Given the description of an element on the screen output the (x, y) to click on. 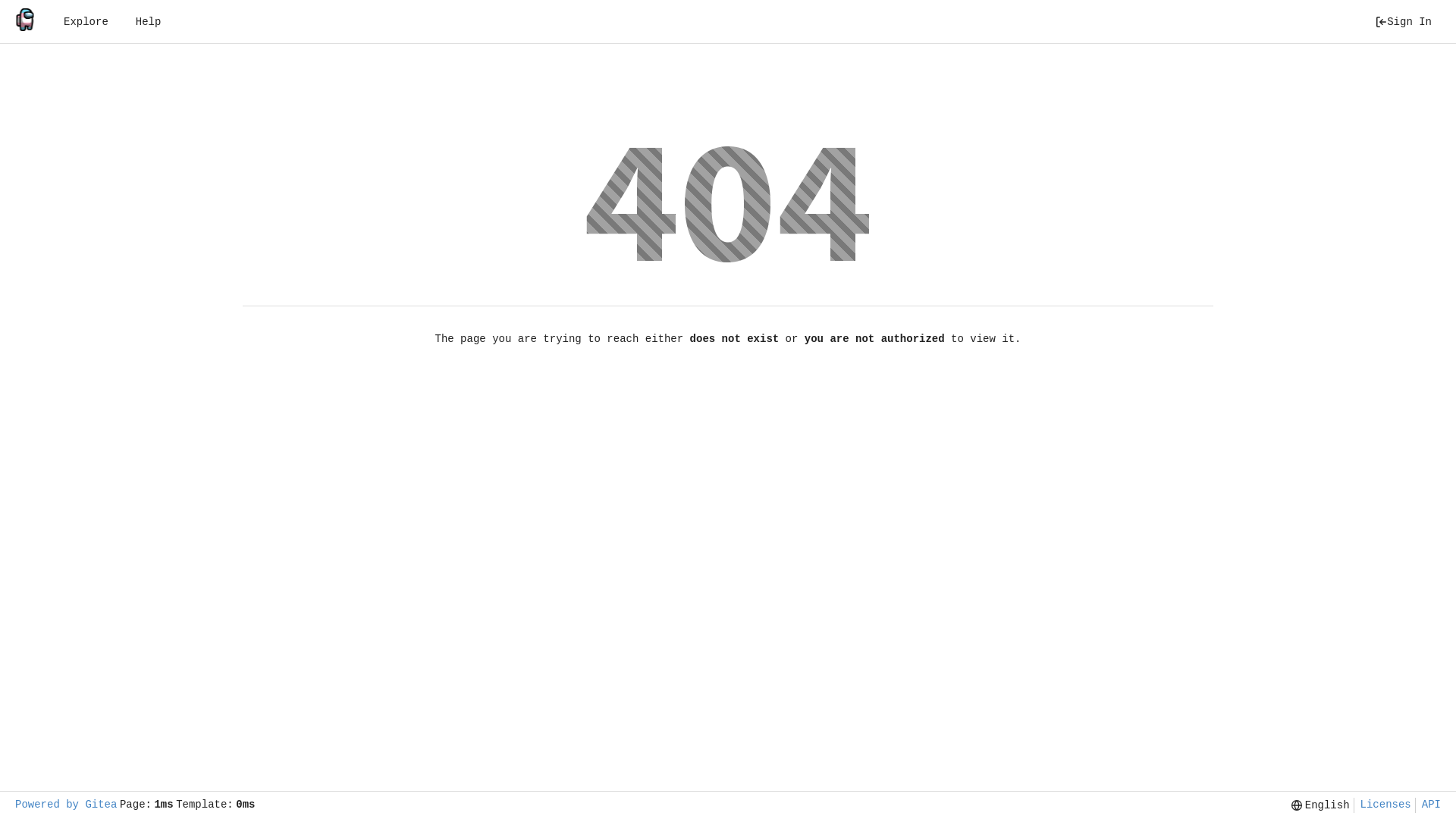
Help Element type: text (148, 21)
Powered by Gitea Element type: text (65, 804)
Explore Element type: text (85, 21)
API Element type: text (1427, 804)
Licenses Element type: text (1382, 804)
Sign In Element type: text (1403, 21)
